Given the description of an element on the screen output the (x, y) to click on. 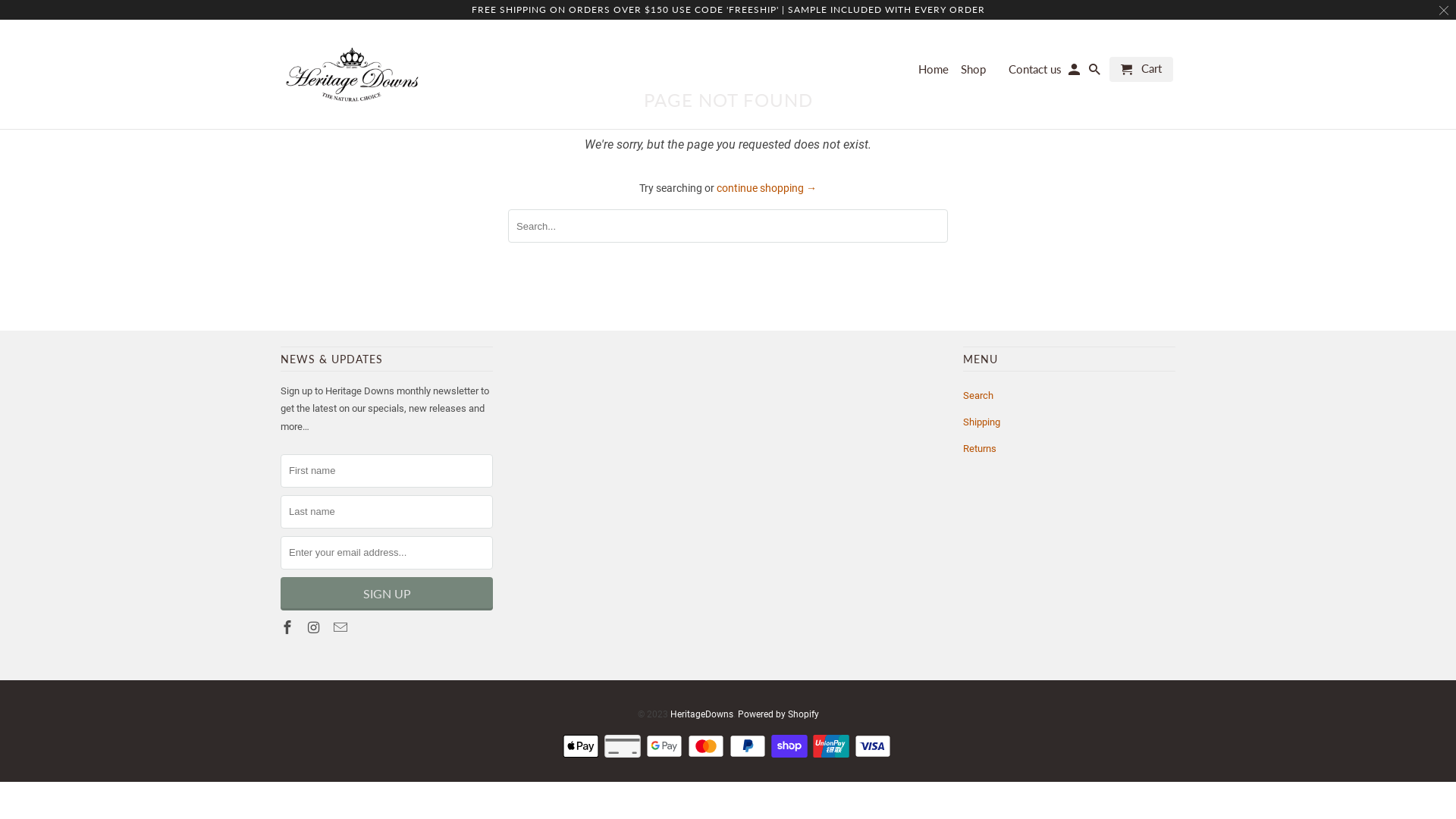
Powered by Shopify Element type: text (777, 714)
Home Element type: text (933, 71)
Sign Up Element type: text (386, 593)
HeritageDowns on Instagram Element type: hover (315, 627)
Cart Element type: text (1141, 68)
Returns Element type: text (979, 448)
HeritageDowns Element type: hover (352, 74)
Contact us Element type: text (1034, 71)
Email HeritageDowns Element type: hover (341, 627)
HeritageDowns Element type: text (701, 714)
Search Element type: hover (1095, 71)
Shipping Element type: text (981, 421)
Search Element type: text (978, 395)
HeritageDowns on Facebook Element type: hover (288, 627)
My Account  Element type: hover (1075, 71)
